Given the description of an element on the screen output the (x, y) to click on. 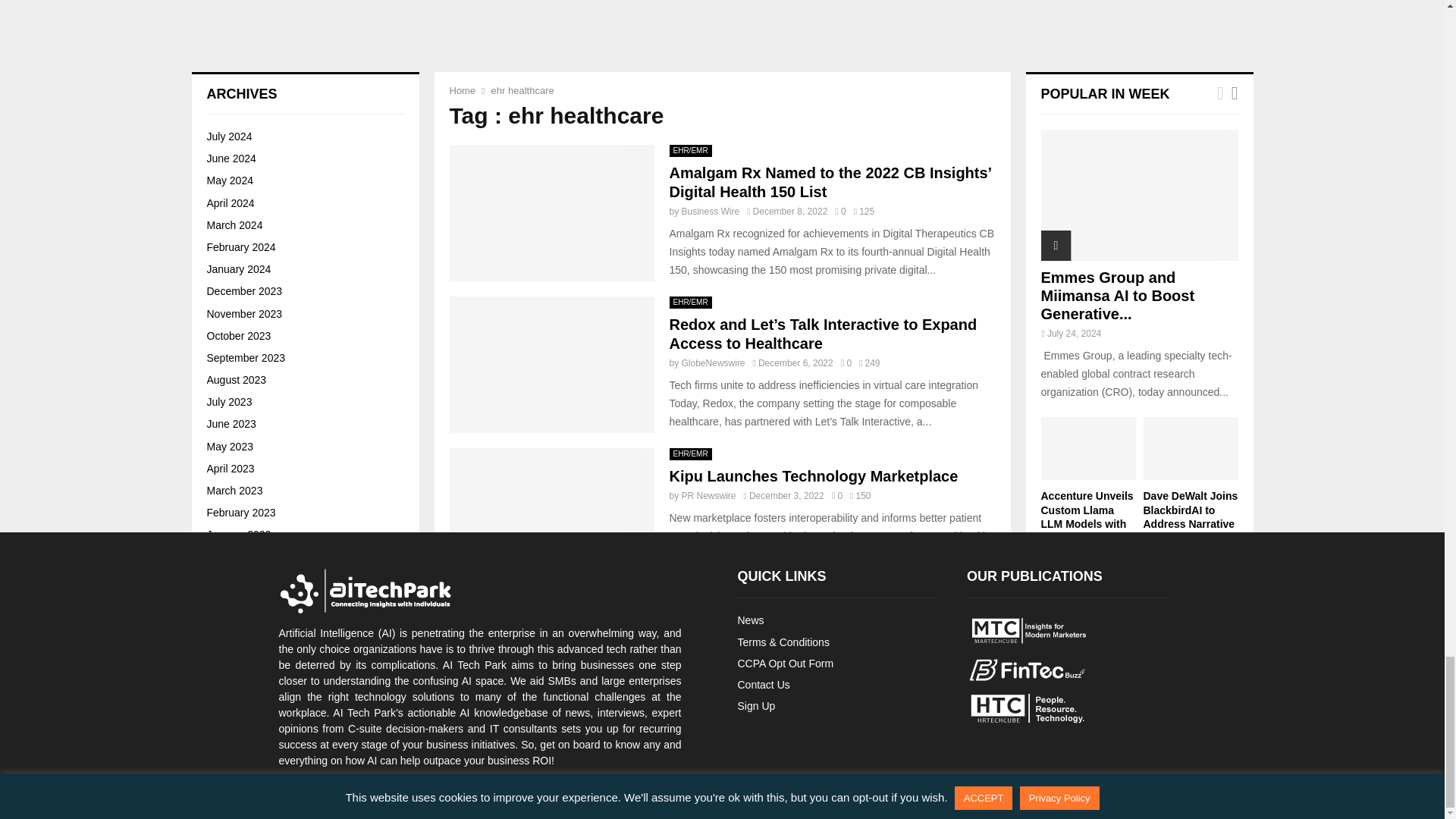
 Fuel Cycle Boosts Qualitative Research with AI Reporting  (346, 106)
Zeb Achieves AWS Competency in Generative AI Services (247, 25)
 Zeb Achieves AWS Competency in Generative AI Services  (351, 18)
Fuel Cycle Boosts Qualitative Research with AI Reporting (247, 113)
